Given the description of an element on the screen output the (x, y) to click on. 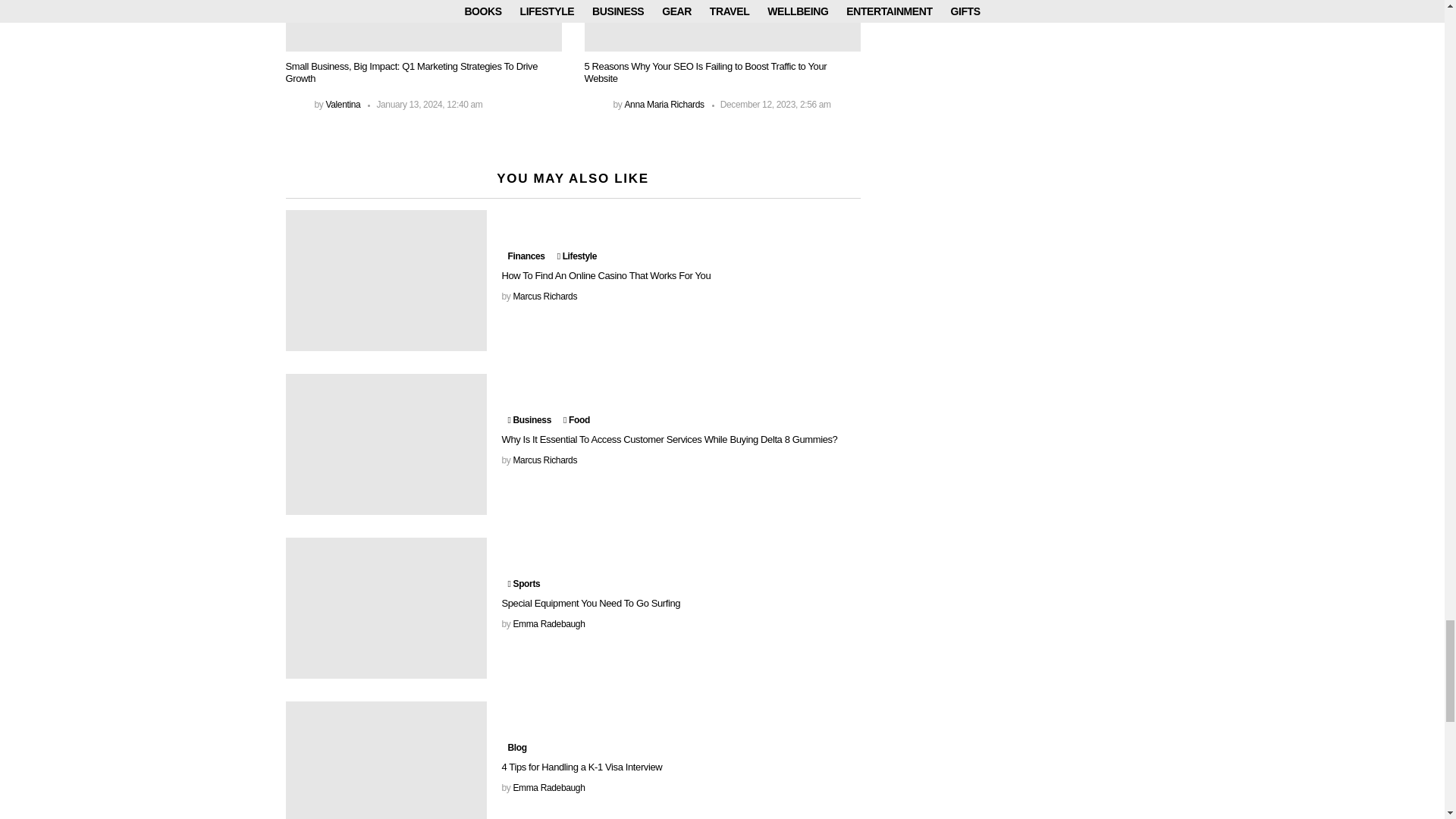
Posts by Valentina (341, 104)
